Given the description of an element on the screen output the (x, y) to click on. 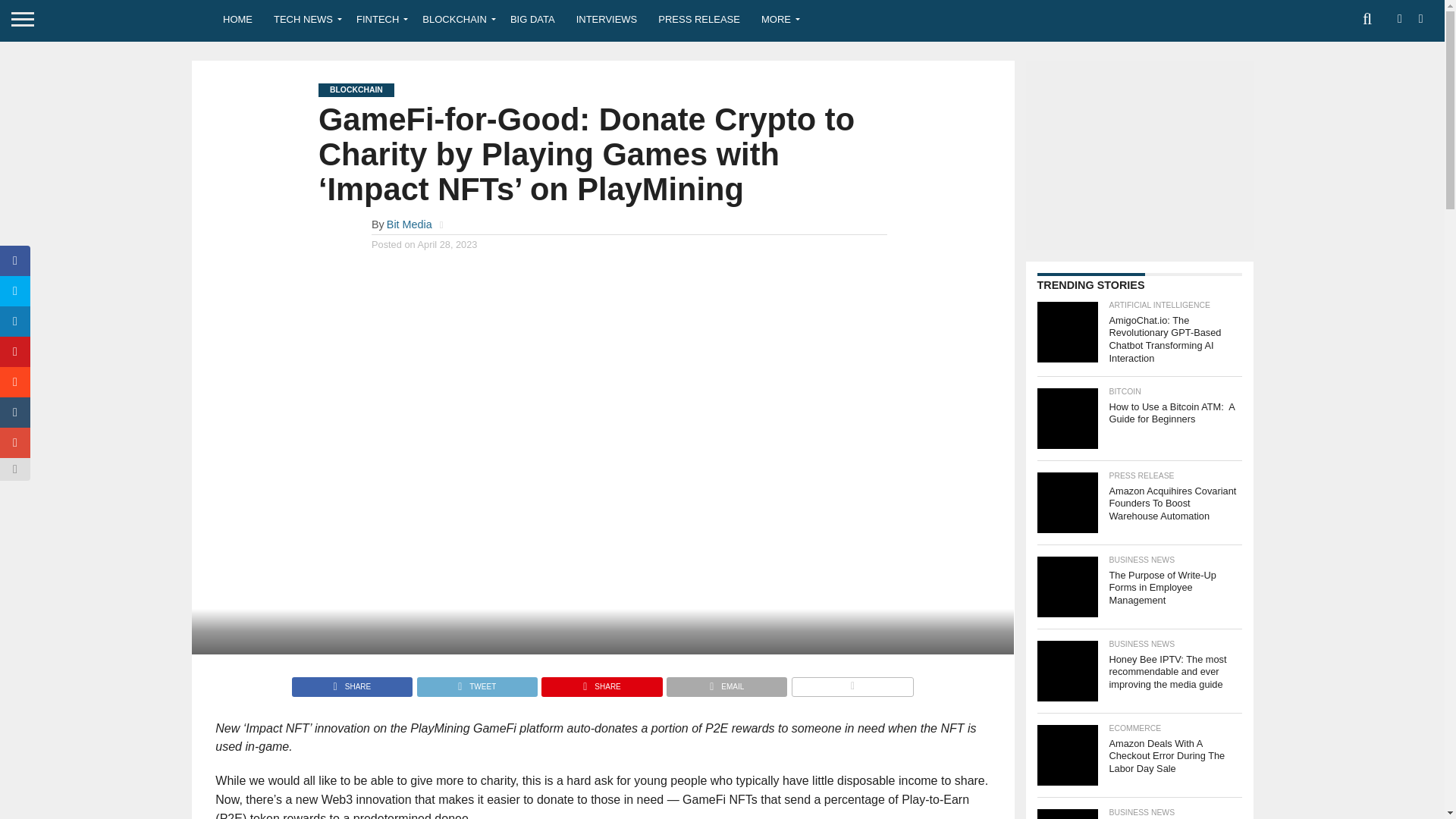
Tweet This Post (476, 682)
Posts by Bit Media (409, 224)
Share on Facebook (352, 682)
Pin This Post (601, 682)
